Given the description of an element on the screen output the (x, y) to click on. 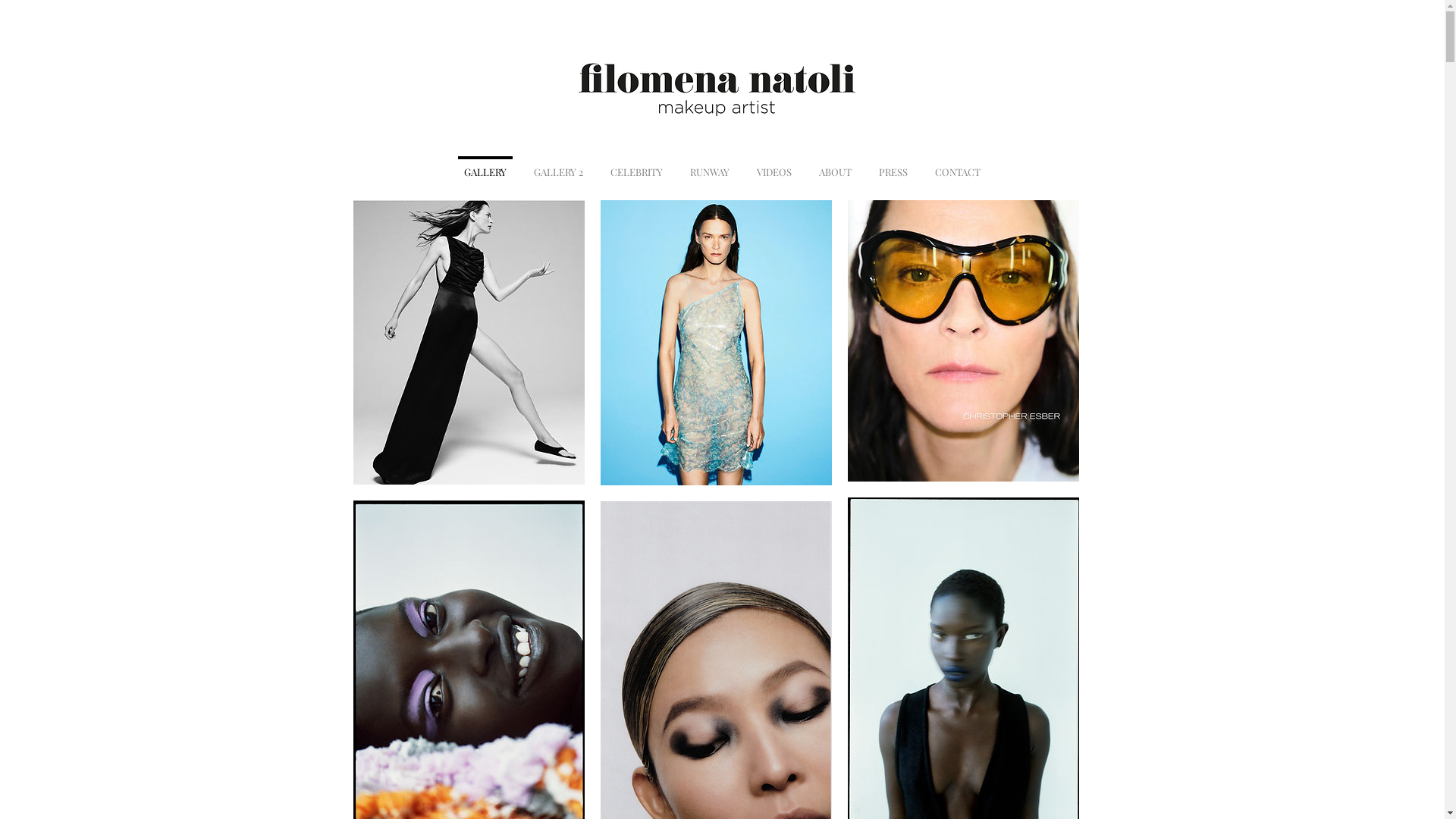
CELEBRITY Element type: text (636, 165)
RUNWAY Element type: text (709, 165)
GALLERY 2 Element type: text (558, 165)
PRESS Element type: text (893, 165)
ABOUT Element type: text (835, 165)
GALLERY Element type: text (485, 165)
CONTACT Element type: text (957, 165)
VIDEOS Element type: text (774, 165)
